Given the description of an element on the screen output the (x, y) to click on. 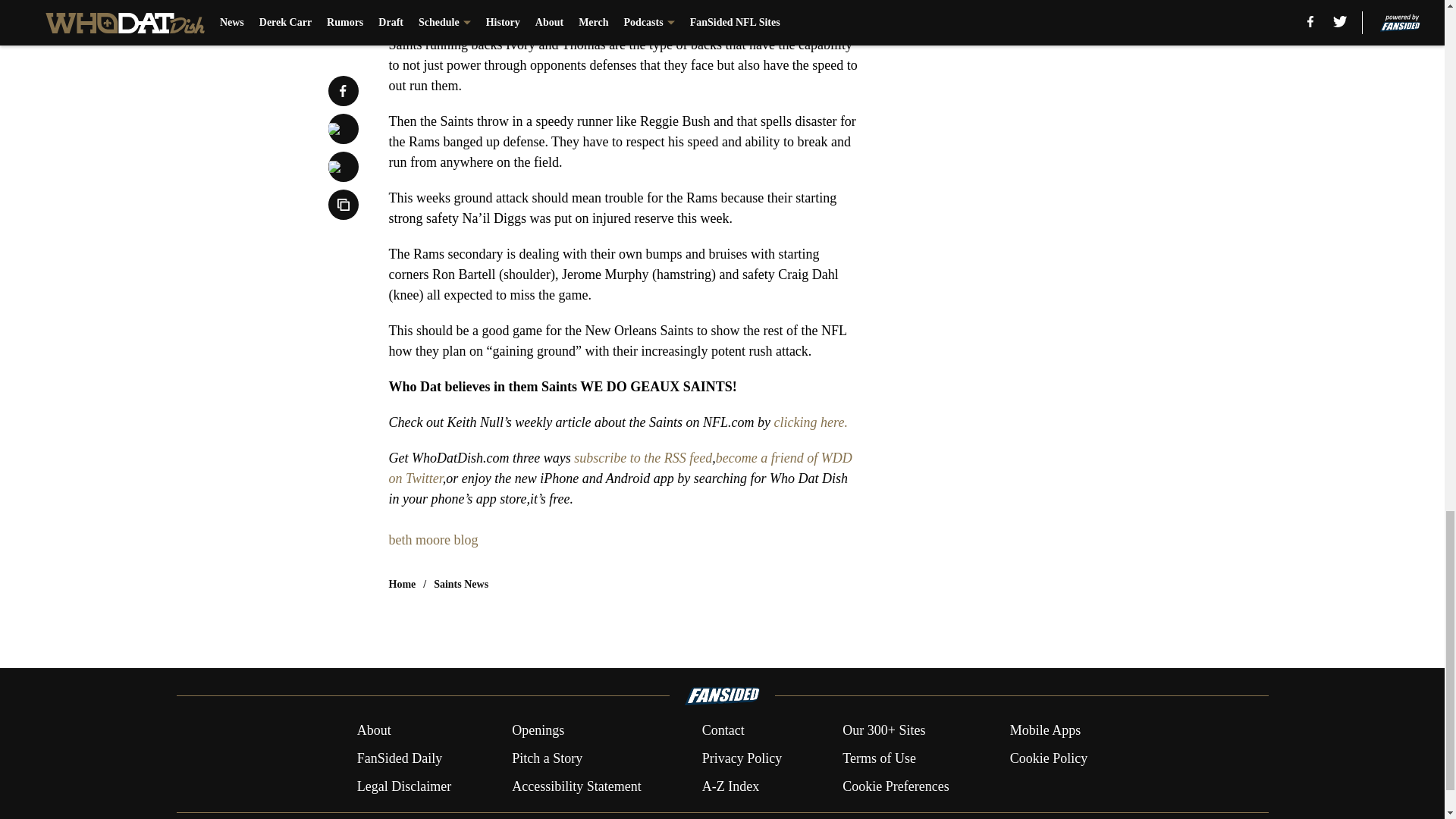
Contact (722, 730)
Pitch a Story (547, 758)
beth moore blog (432, 539)
clicking here. (810, 421)
Privacy Policy (742, 758)
Terms of Use (879, 758)
Saints News (460, 584)
About (373, 730)
become a friend of WDD on Twitter (619, 468)
FanSided Daily (399, 758)
Openings (538, 730)
Legal Disclaimer (403, 786)
Mobile Apps (1045, 730)
Cookie Policy (1048, 758)
subscribe to the RSS feed (642, 458)
